Given the description of an element on the screen output the (x, y) to click on. 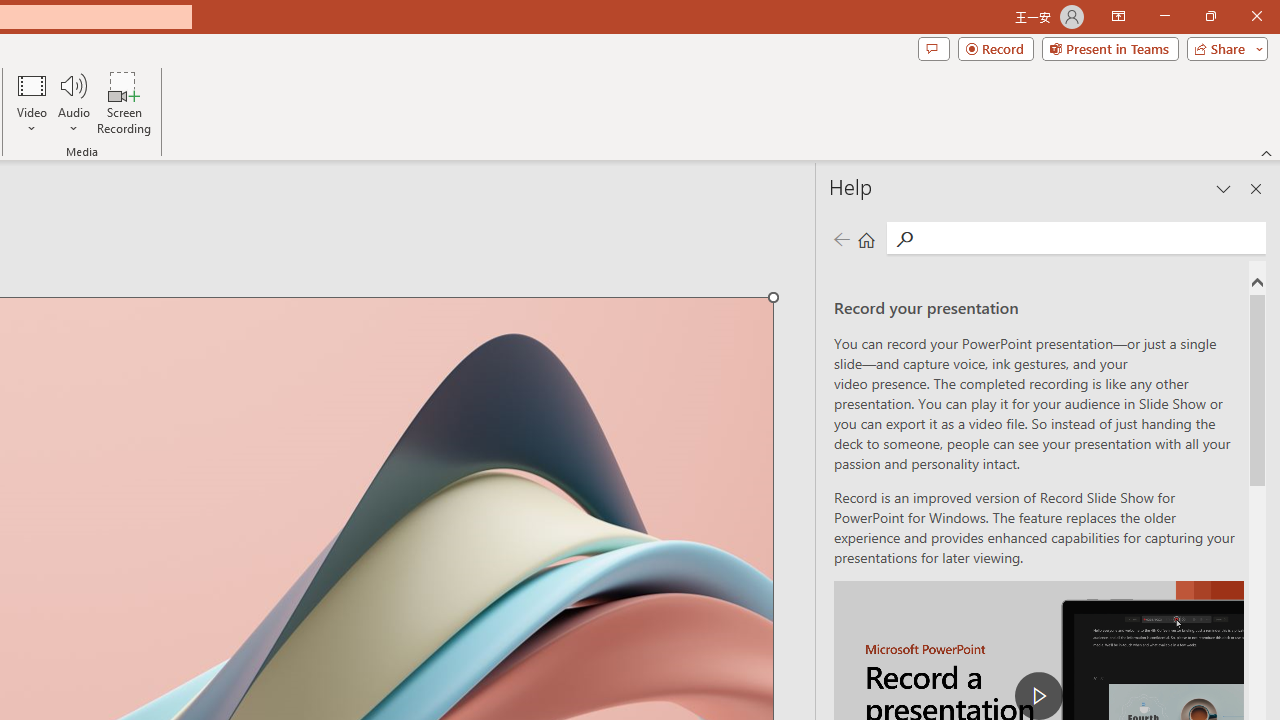
Video (31, 102)
play Record a Presentation (1038, 695)
Previous page (841, 238)
